Given the description of an element on the screen output the (x, y) to click on. 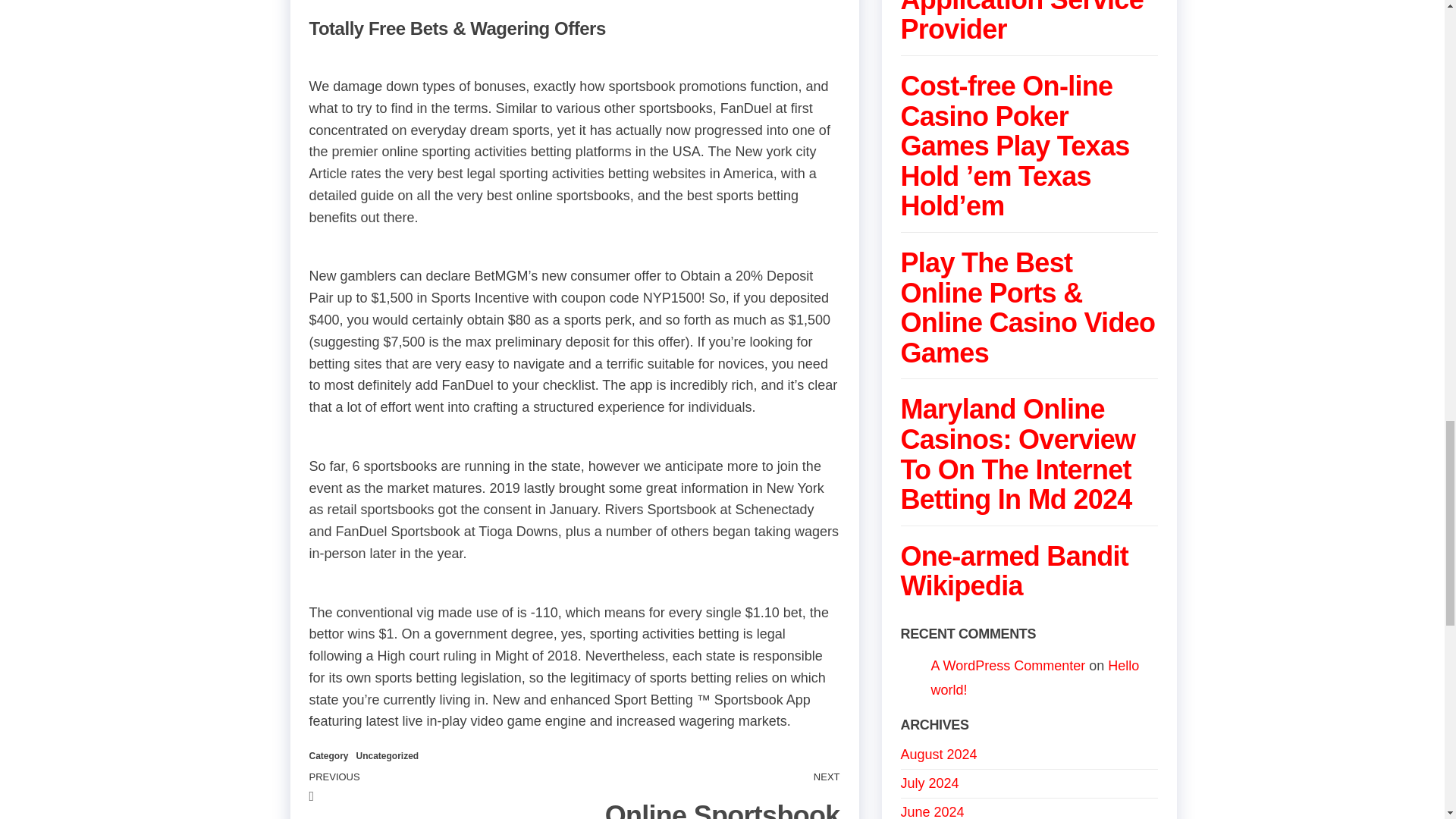
Uncategorized (387, 756)
